Given the description of an element on the screen output the (x, y) to click on. 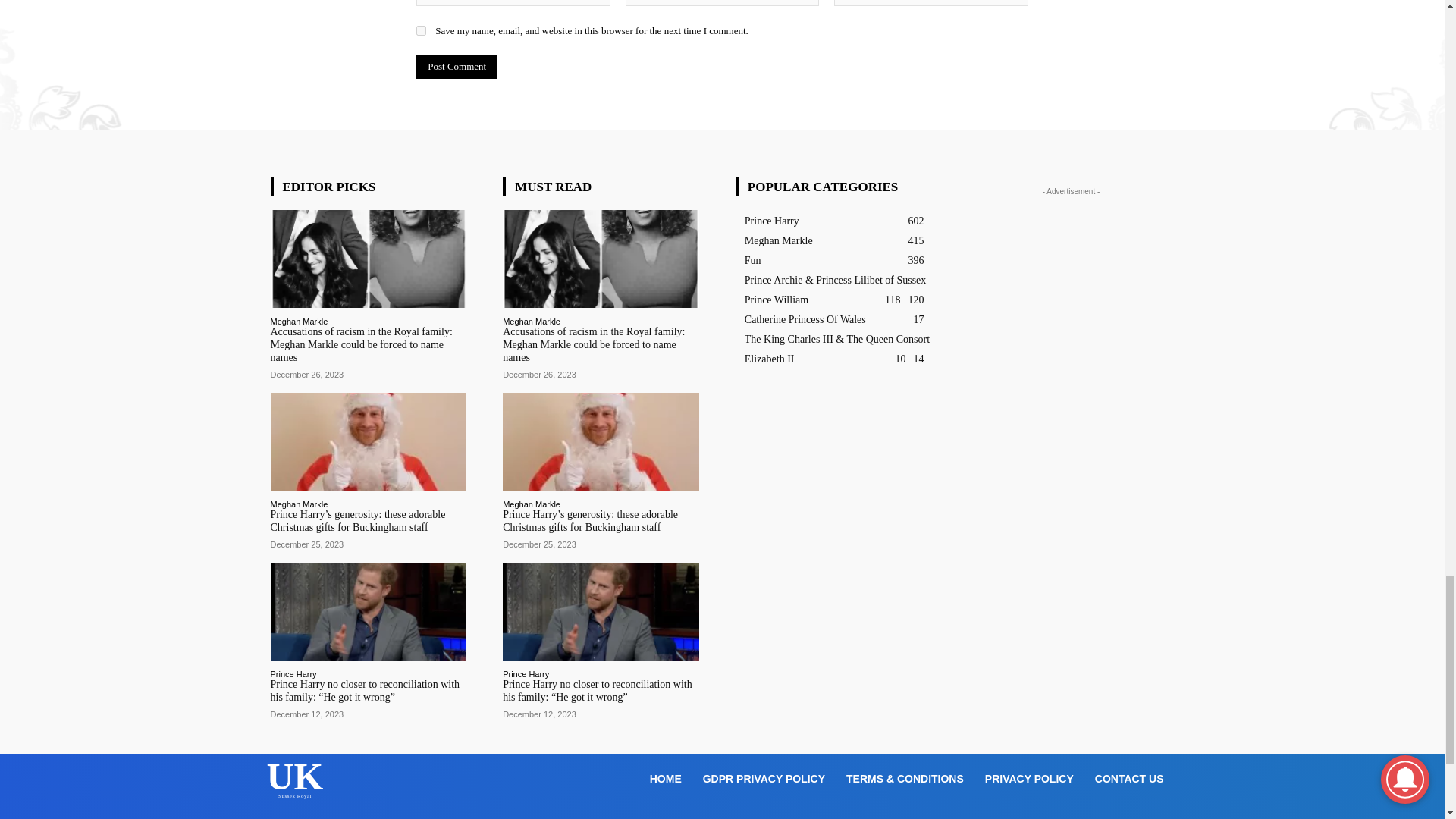
yes (421, 30)
Post Comment (456, 66)
